Given the description of an element on the screen output the (x, y) to click on. 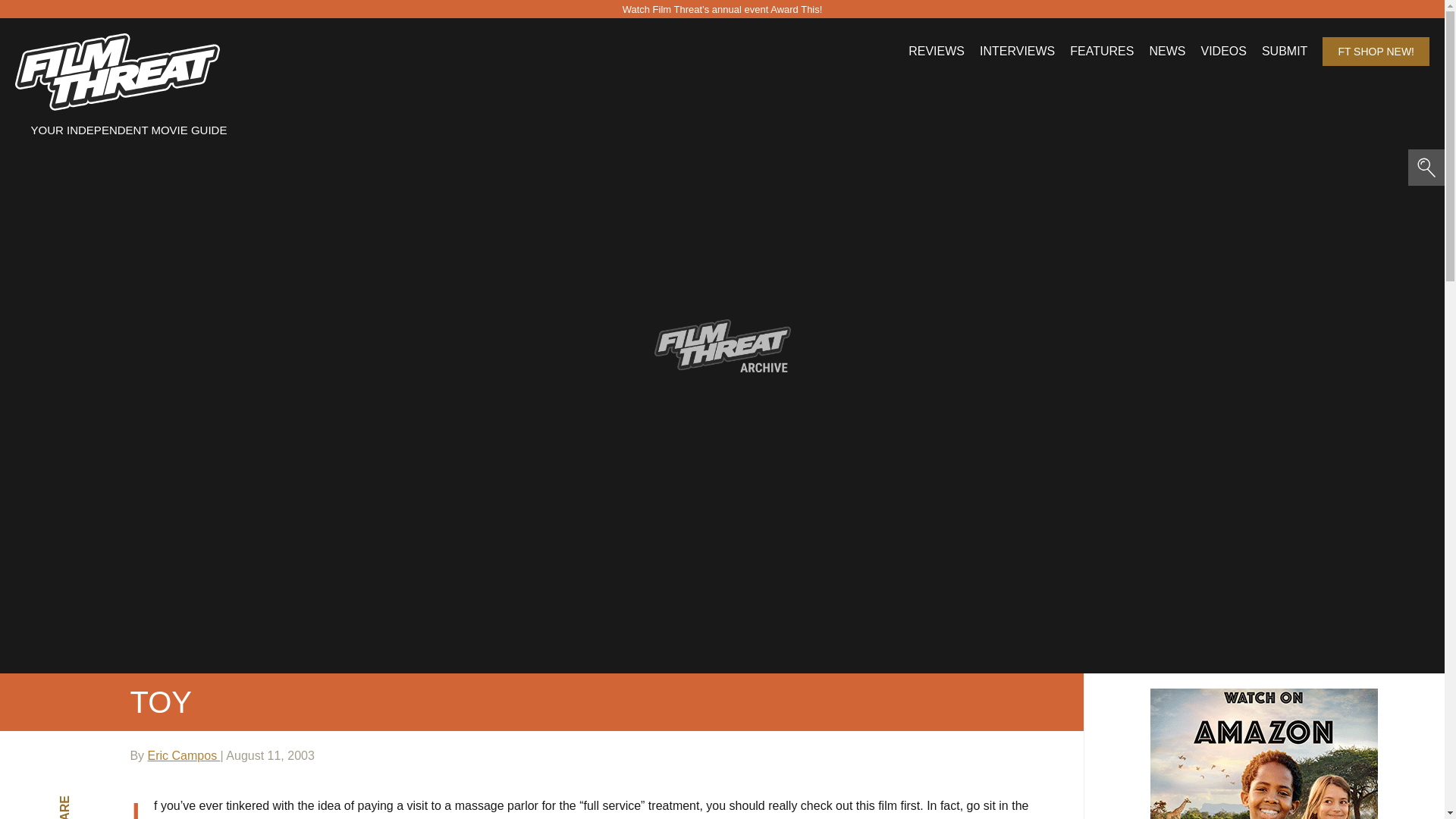
Search (152, 24)
VIDEOS (1222, 51)
FT SHOP NEW! (1375, 51)
NEWS (1166, 51)
INTERVIEWS (1016, 51)
SUBMIT (1284, 51)
REVIEWS (935, 51)
Eric Campos (184, 755)
FEATURES (1102, 51)
